Given the description of an element on the screen output the (x, y) to click on. 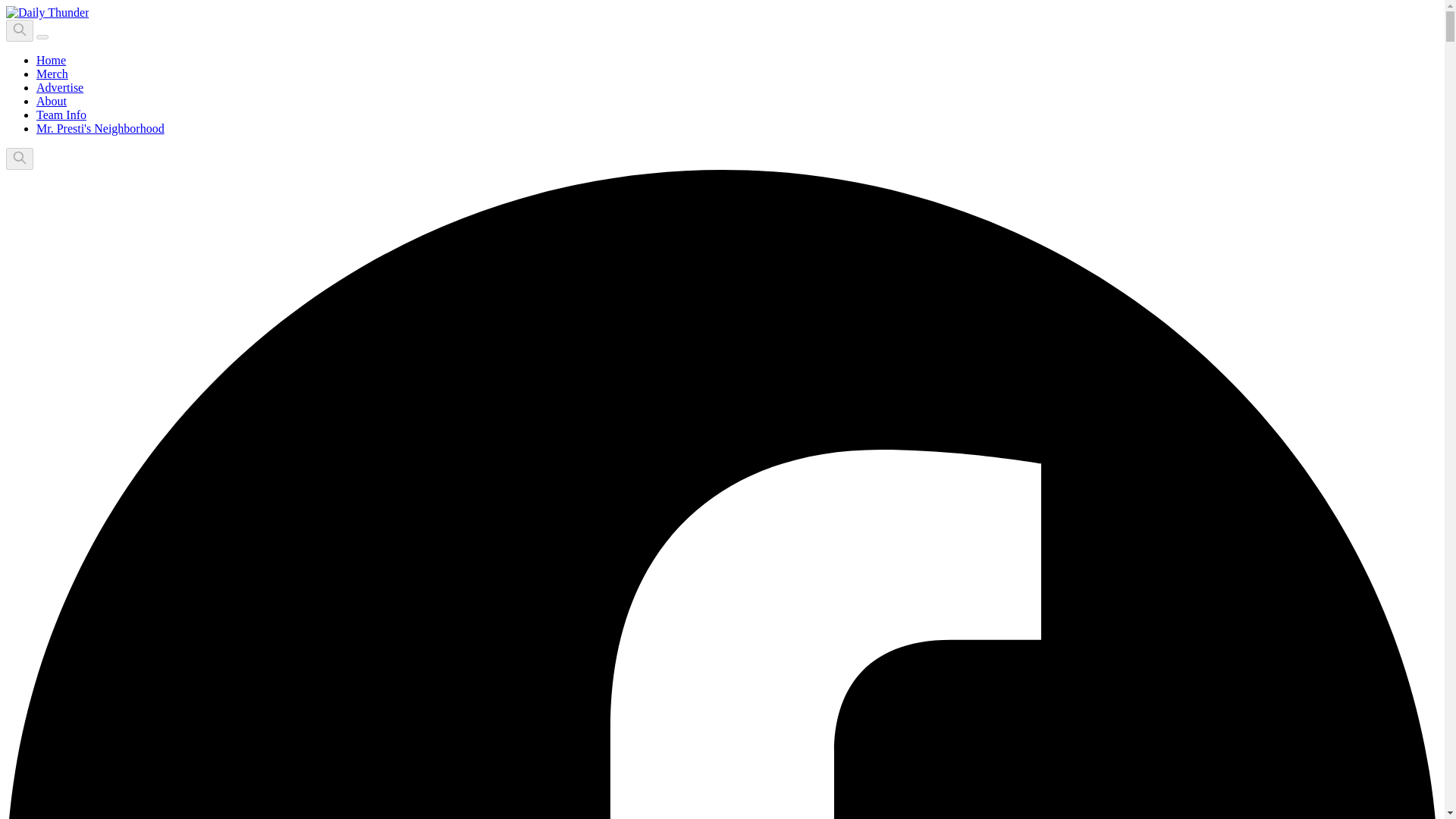
Merch (52, 73)
Mr. Presti's Neighborhood (100, 128)
About (51, 101)
Advertise (59, 87)
Home (50, 60)
Team Info (60, 114)
